Given the description of an element on the screen output the (x, y) to click on. 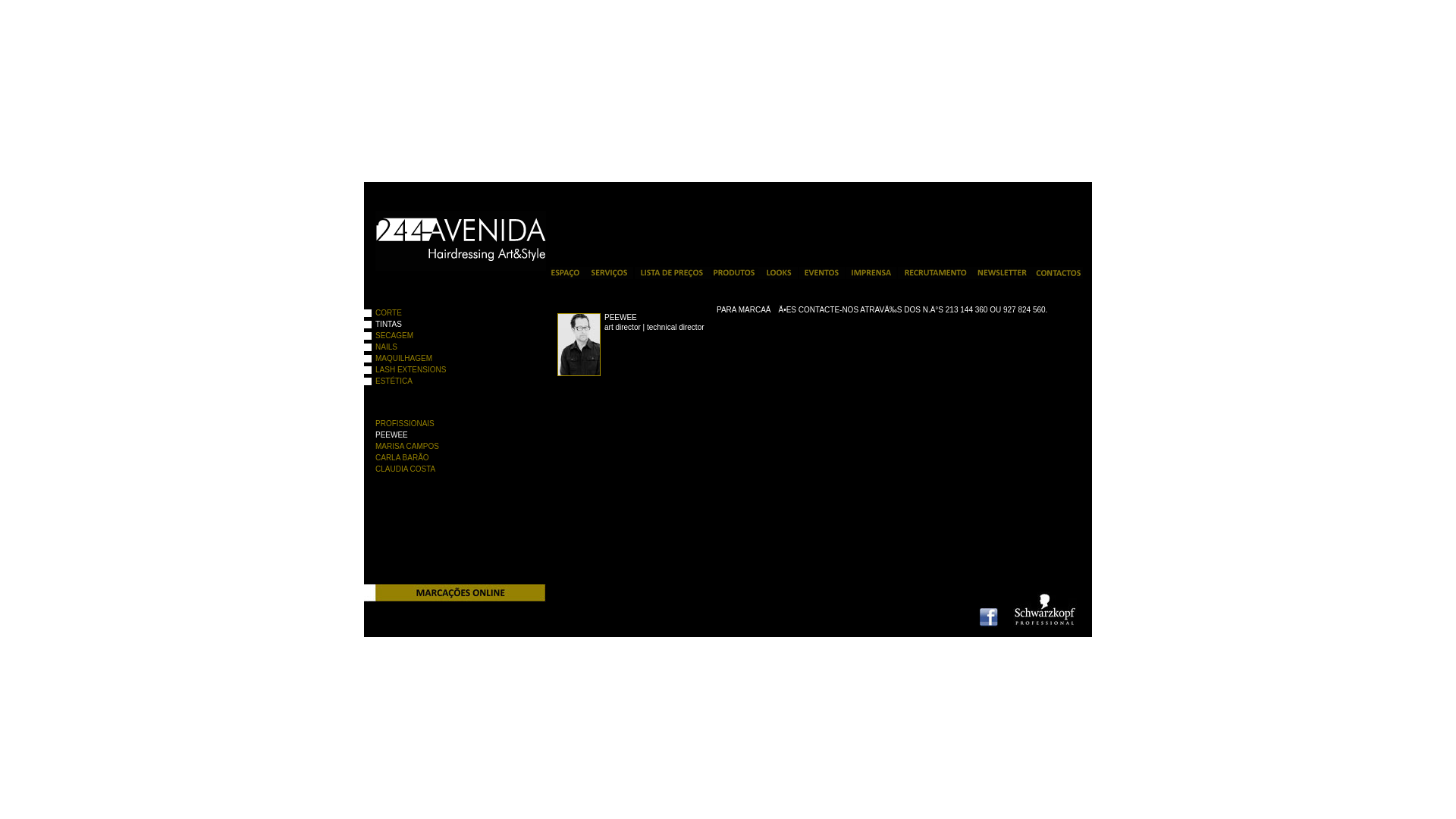
MAQUILHAGEM Element type: text (443, 358)
MARISA CAMPOS Element type: text (445, 446)
SECAGEM Element type: text (443, 335)
TINTAS Element type: text (443, 324)
LASH EXTENSIONS Element type: text (443, 369)
NAILS Element type: text (443, 347)
CLAUDIA COSTA Element type: text (445, 469)
PEEWEE Element type: text (445, 435)
CORTE Element type: text (443, 312)
